Given the description of an element on the screen output the (x, y) to click on. 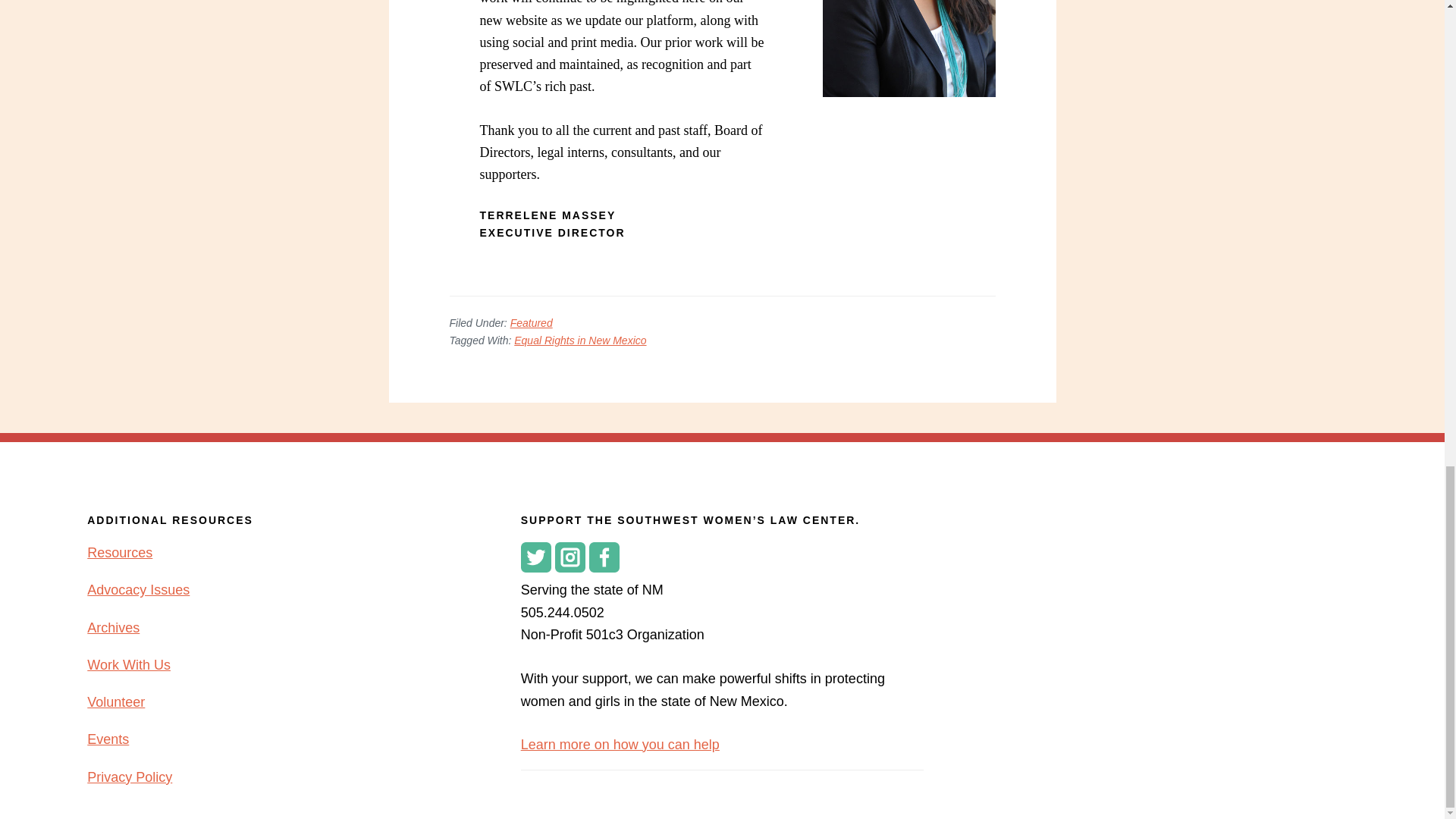
Equal Rights in New Mexico (579, 340)
Archives (113, 626)
Resources (119, 552)
Featured (532, 322)
Advocacy Issues (138, 589)
